Given the description of an element on the screen output the (x, y) to click on. 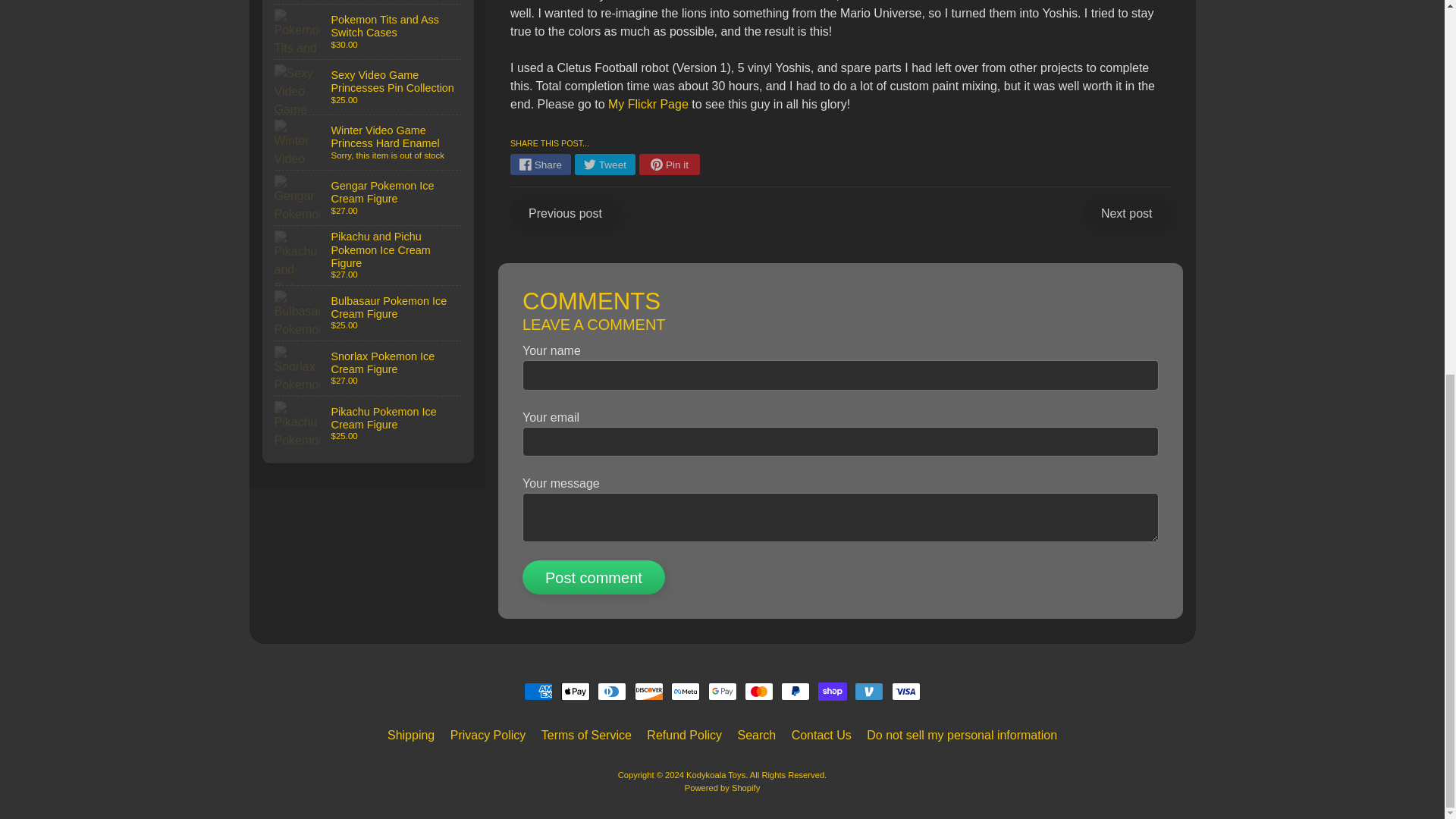
Meta Pay (685, 691)
Diners Club (611, 691)
Pikachu and Pichu Pokemon Ice Cream Figure (369, 255)
Tweet on Twitter (604, 164)
Pin on Pinterest (669, 164)
PayPal (794, 691)
Snorlax Pokemon Ice Cream Figure (369, 368)
Pikachu Pokemon Ice Cream Figure (369, 423)
American Express (538, 691)
Bulbasaur Pokemon Ice Cream Figure (369, 312)
